Given the description of an element on the screen output the (x, y) to click on. 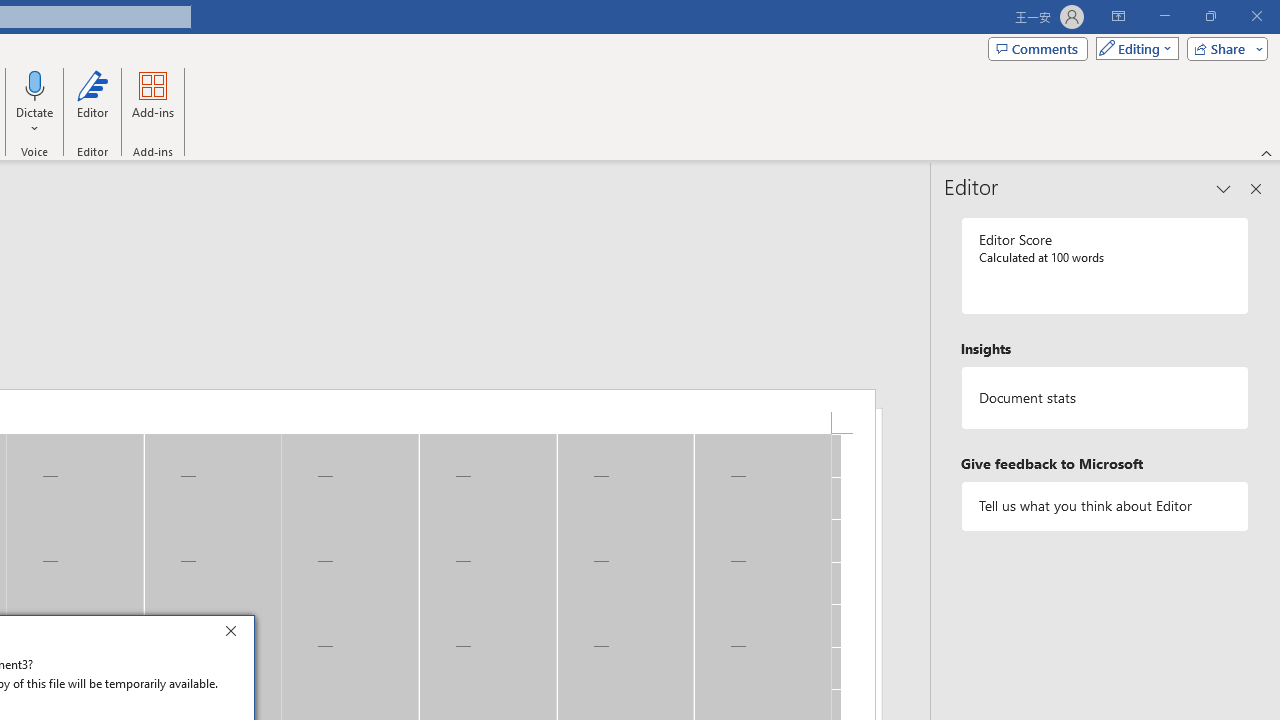
Document statistics (1105, 398)
